Given the description of an element on the screen output the (x, y) to click on. 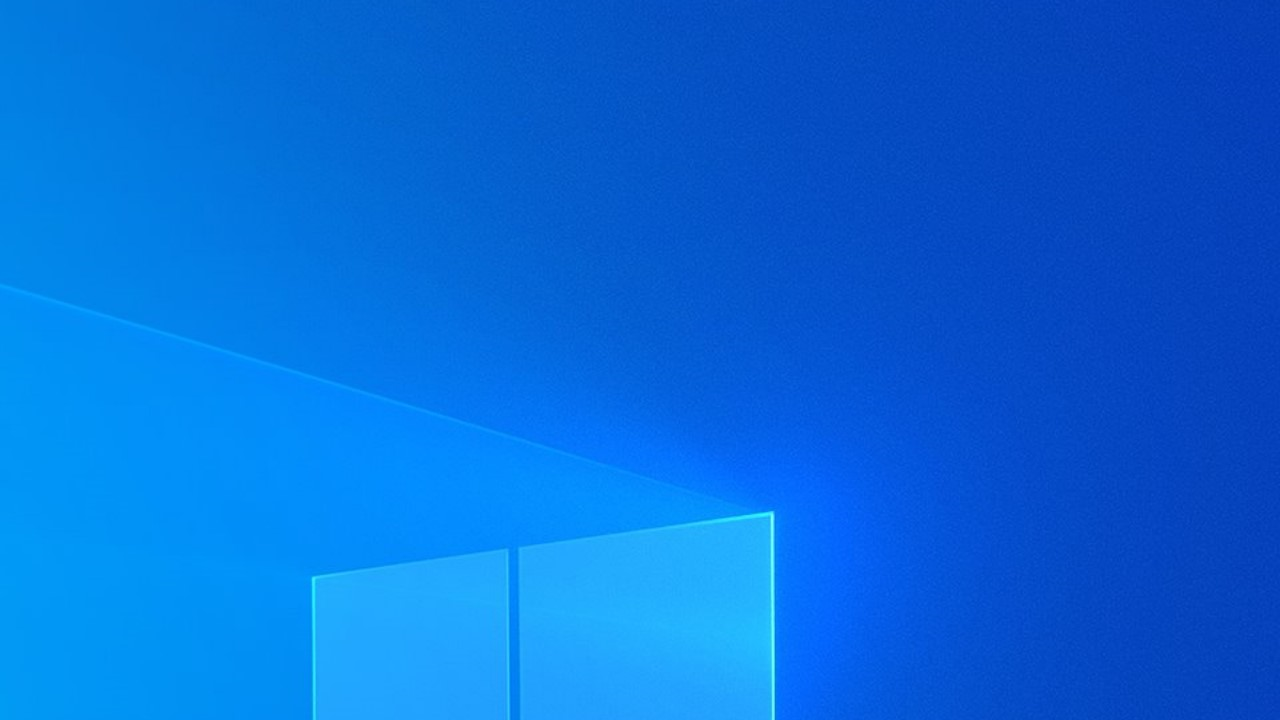
Design Idea with Animation (1124, 431)
Recommended Design: Animation (1124, 286)
